Given the description of an element on the screen output the (x, y) to click on. 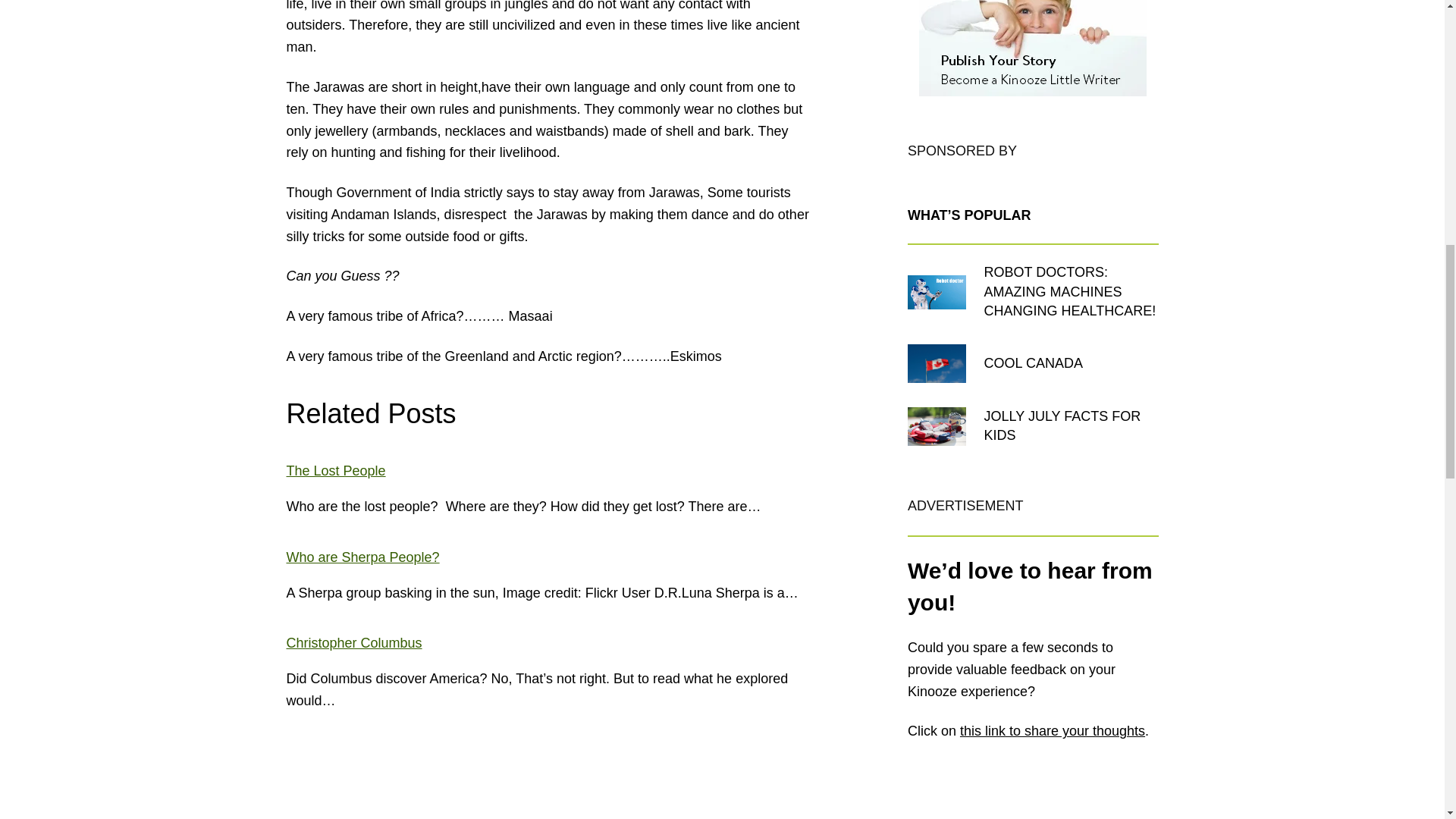
COOL CANADA (1033, 363)
ROBOT DOCTORS: AMAZING MACHINES CHANGING HEALTHCARE! (1071, 291)
this link to share your thoughts (1051, 730)
The Lost People (335, 470)
JOLLY JULY FACTS FOR KIDS (1071, 426)
Who are Sherpa People? (362, 557)
Christopher Columbus (354, 642)
